Given the description of an element on the screen output the (x, y) to click on. 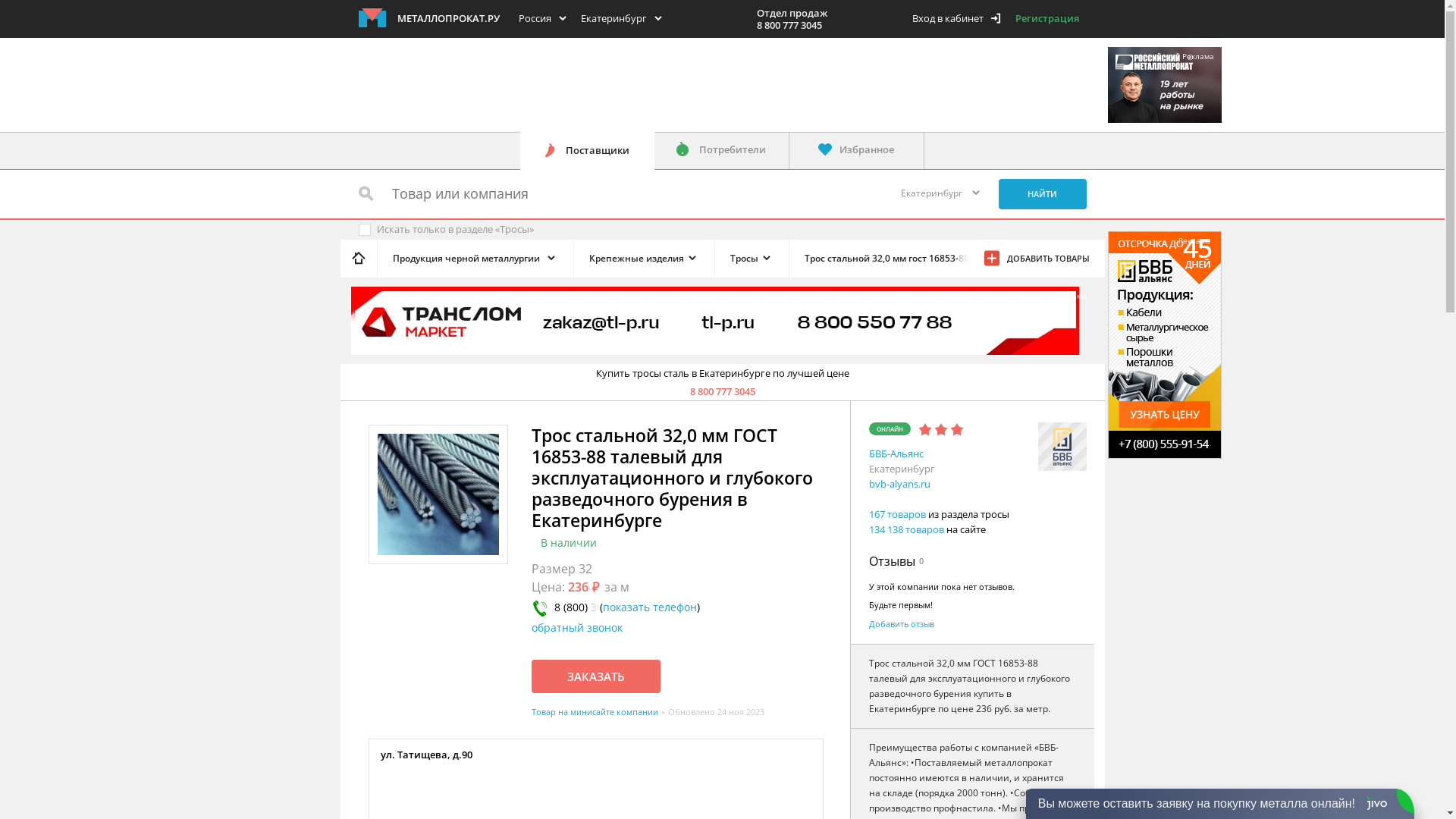
bvb-alyans.ru Element type: text (899, 483)
